Given the description of an element on the screen output the (x, y) to click on. 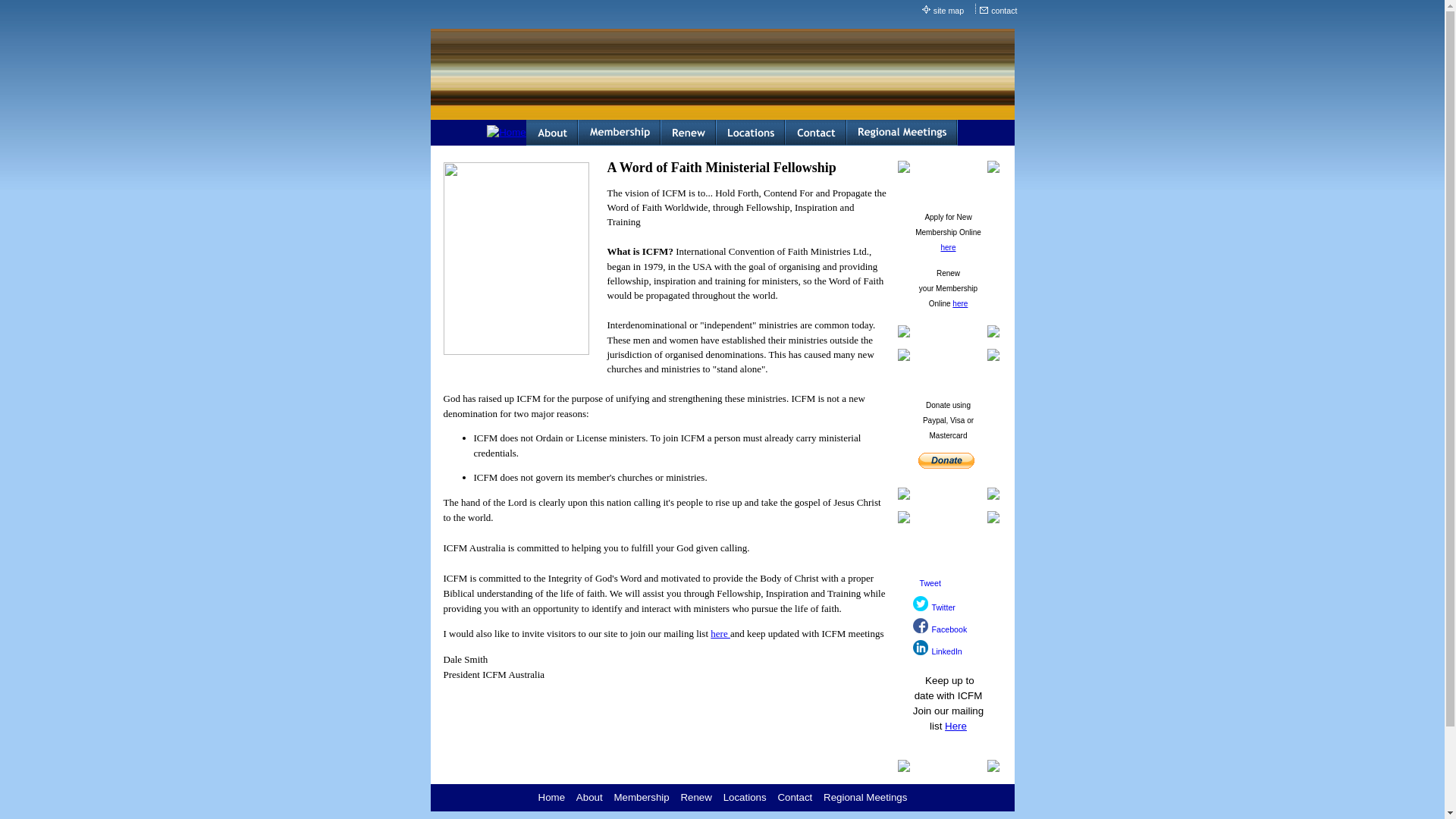
Renew Element type: text (695, 796)
site map Element type: text (949, 10)
LinkedIn Element type: text (946, 651)
Locations Element type: text (744, 796)
Twitter Element type: text (942, 607)
Home Element type: text (551, 796)
contact Element type: text (1004, 10)
here Element type: text (947, 246)
Twitter Element type: hover (920, 603)
Facebook Element type: hover (920, 625)
Facebook Element type: text (948, 629)
Regional Meetings Element type: text (864, 796)
Here Element type: text (955, 725)
Contact Element type: text (794, 796)
LinkedIn Element type: hover (920, 647)
Tweet Element type: text (930, 583)
here Element type: text (720, 633)
here Element type: text (959, 302)
Membership Element type: text (640, 796)
About Element type: text (589, 796)
